Given the description of an element on the screen output the (x, y) to click on. 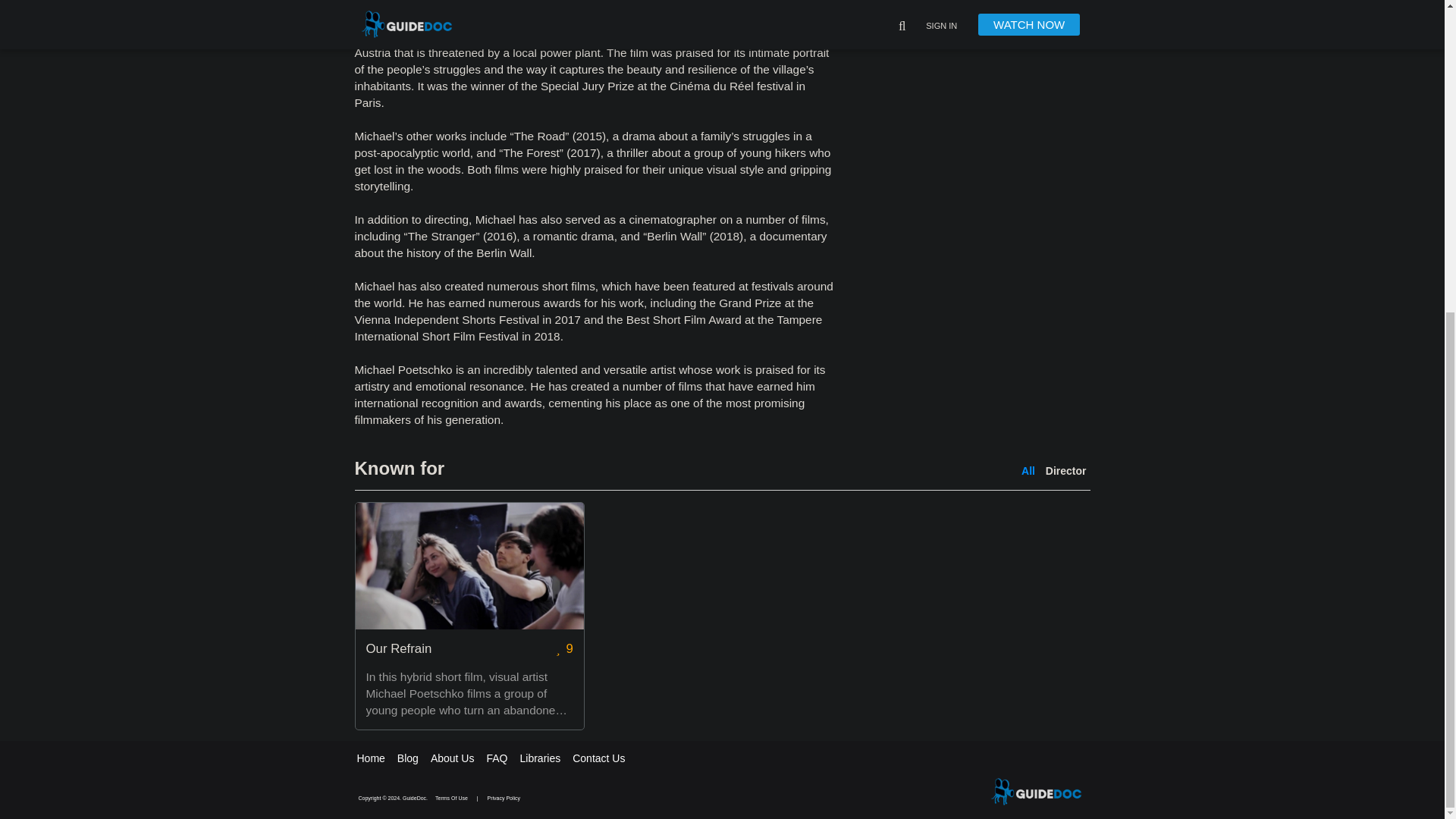
Blog (408, 758)
Contact Us (598, 758)
Privacy Policy (504, 797)
About Us (452, 758)
Terms Of Use (451, 797)
Libraries (539, 758)
Director (1065, 470)
All (1028, 470)
FAQ (496, 758)
Home (370, 758)
